Given the description of an element on the screen output the (x, y) to click on. 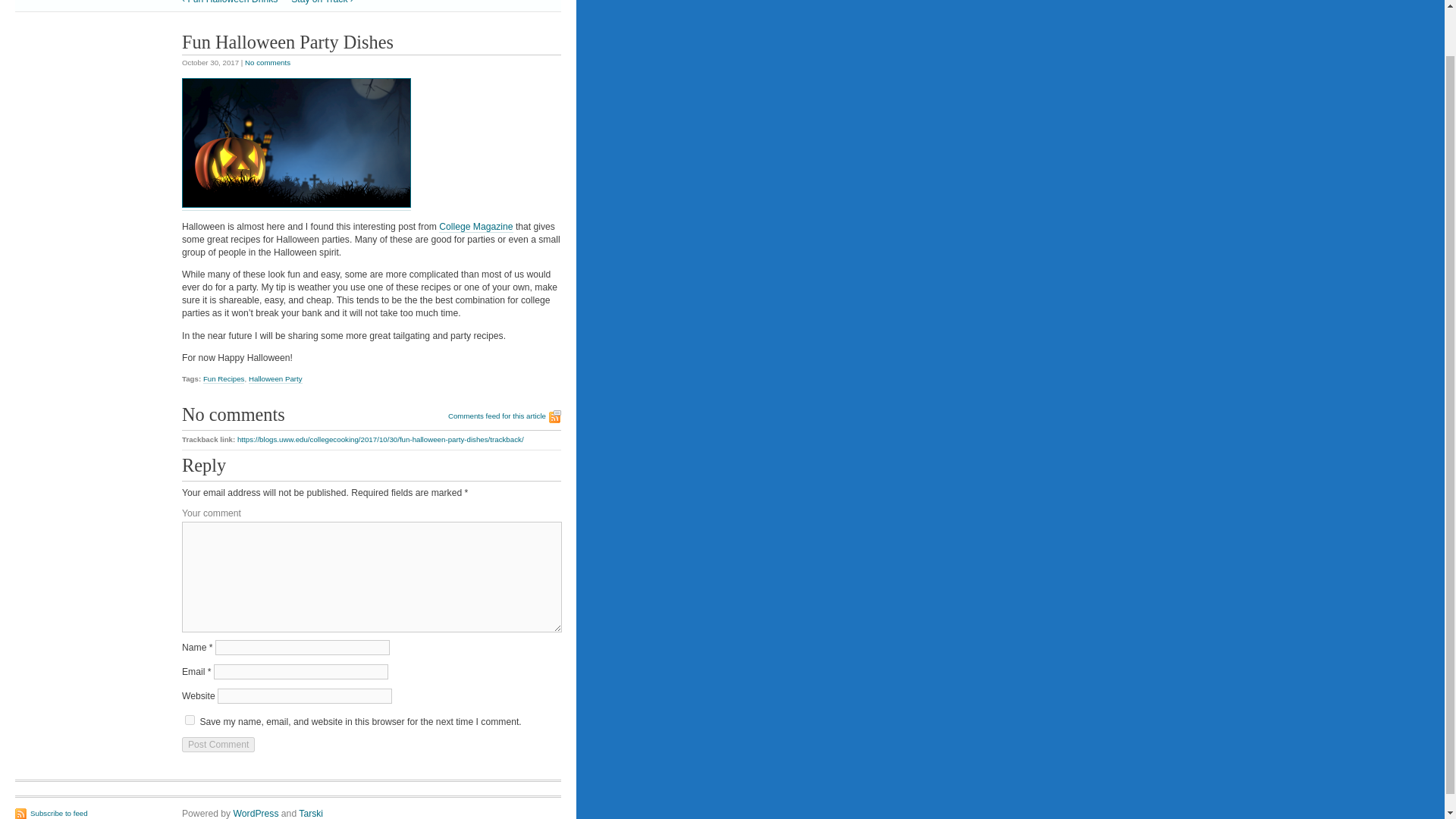
Comments feed for this article (504, 417)
Fun Recipes (223, 379)
No comments (266, 62)
yes (189, 719)
Post Comment (218, 744)
College Magazine (475, 226)
Halloween Party (275, 379)
Post Comment (218, 744)
